Given the description of an element on the screen output the (x, y) to click on. 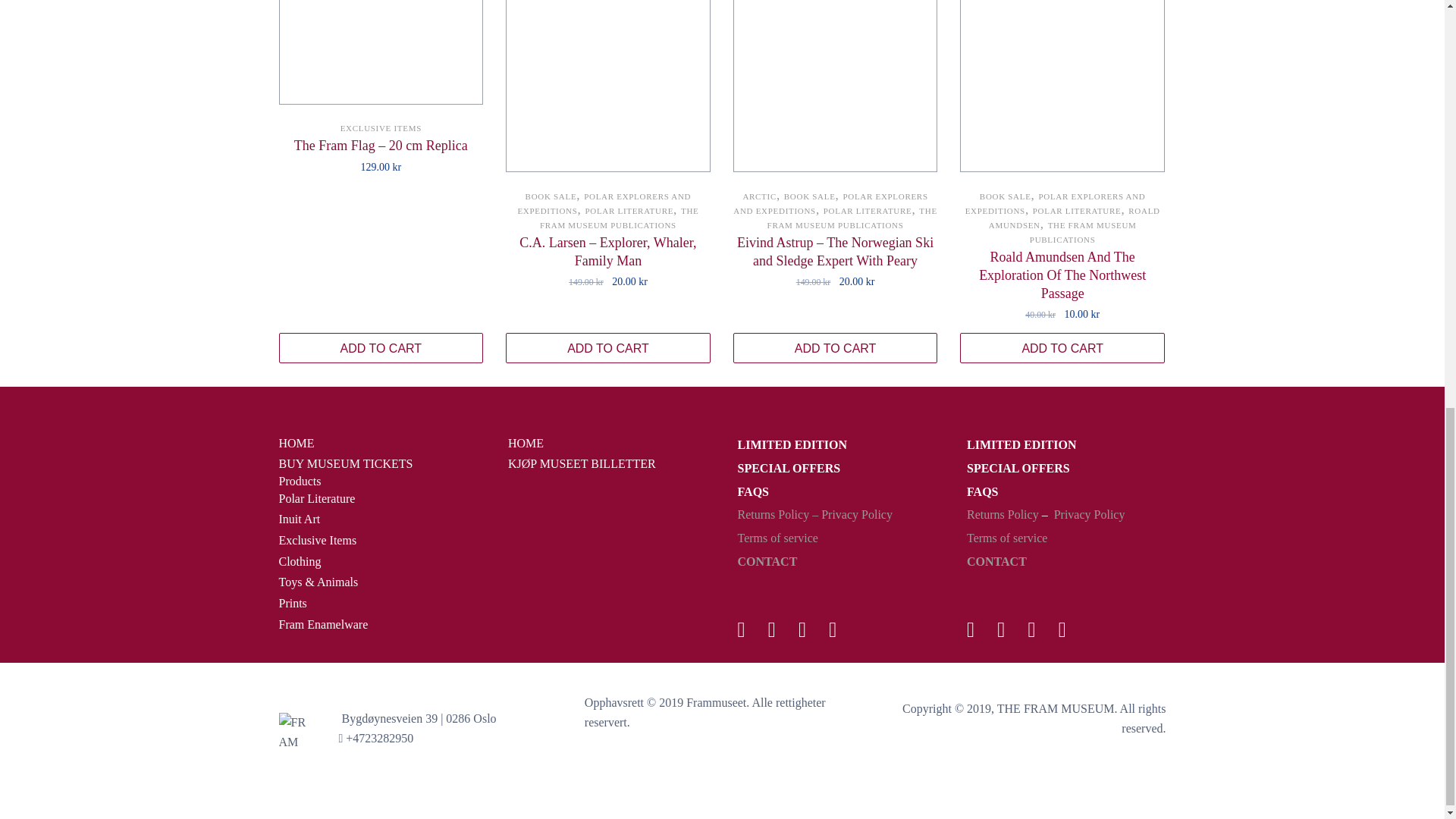
Roald Amundsen And The Exploration Of The Northwest Passage (1061, 275)
Roald Amundsen And The Exploration Of The Northwest Passage (1061, 85)
